Given the description of an element on the screen output the (x, y) to click on. 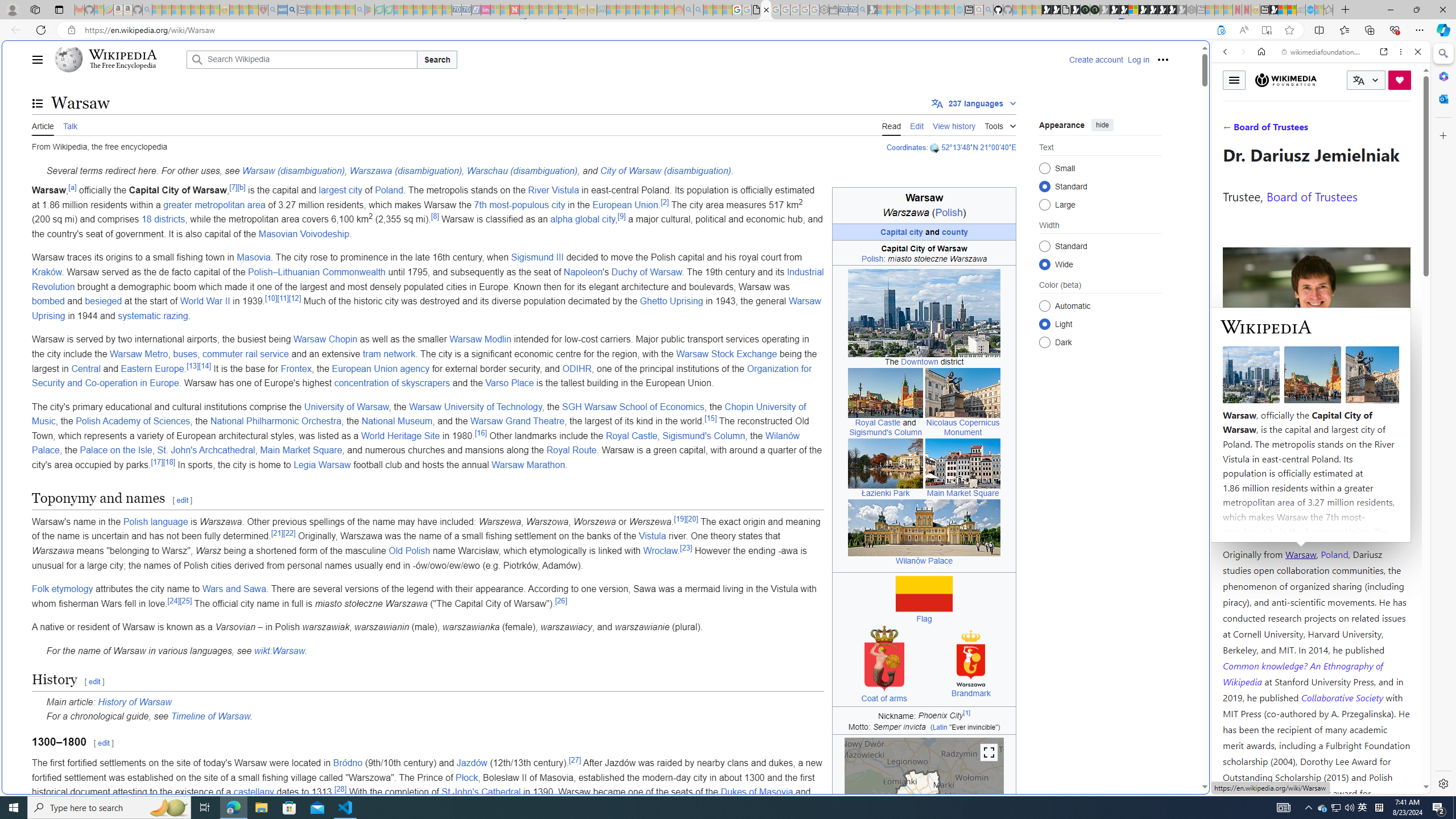
[22] (289, 533)
county (955, 231)
Create account (1095, 58)
Polish (871, 258)
Warsaw Stock Exchange (726, 353)
History of Warsaw (134, 701)
